Given the description of an element on the screen output the (x, y) to click on. 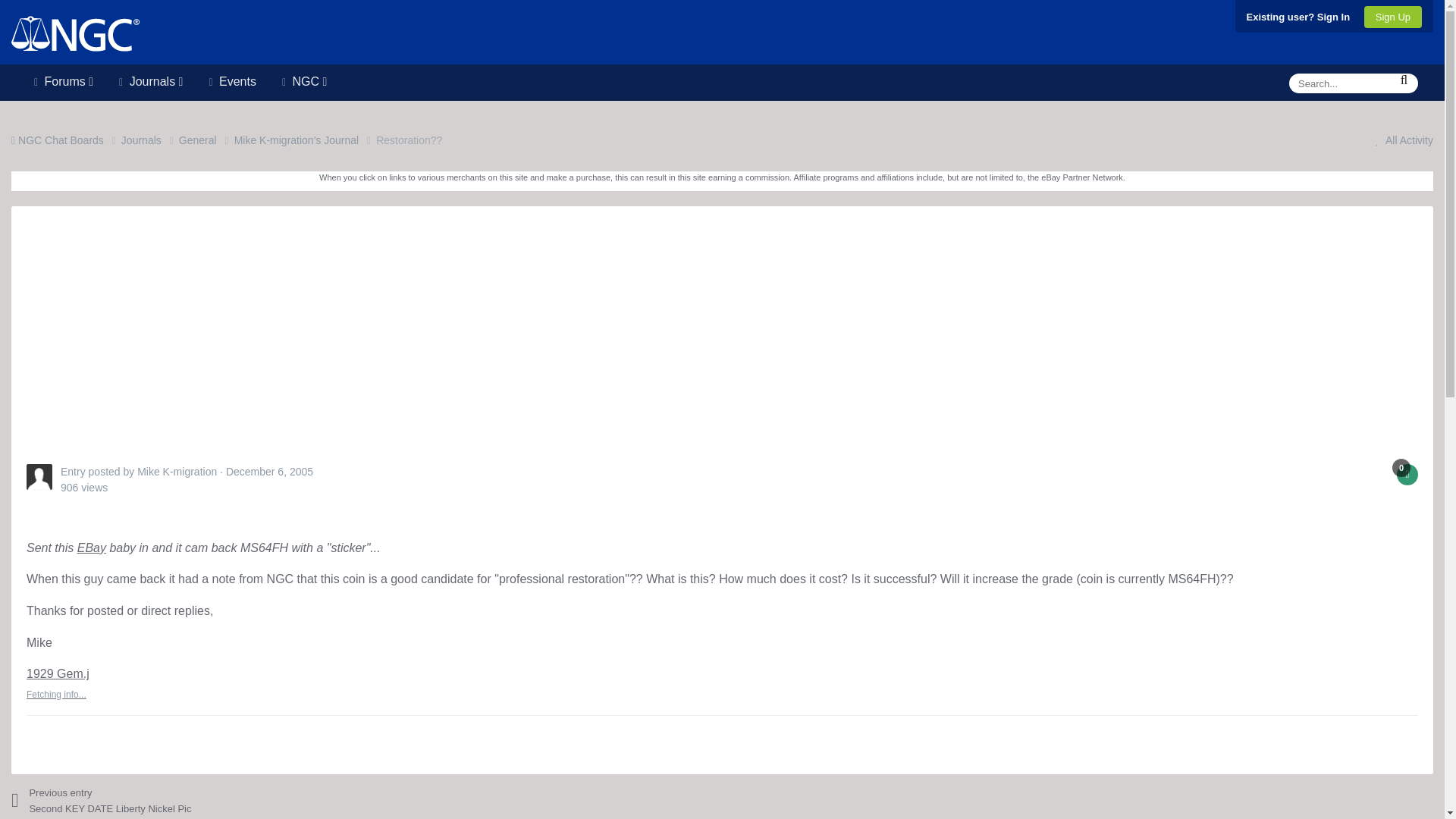
Existing user? Sign In (1298, 16)
NGC Chat Boards (65, 140)
Sign Up (1393, 16)
Mike K-migration's Journal (305, 140)
Events (231, 79)
NGC (303, 79)
Go to Mike K-migration's profile (176, 471)
Journals (150, 79)
Mike K-migration (176, 471)
NGC Chat Boards (65, 140)
All Activity (1400, 140)
Go to Mike K-migration's profile (39, 476)
Forums (63, 79)
General (206, 140)
Sign in to follow this (1407, 474)
